Given the description of an element on the screen output the (x, y) to click on. 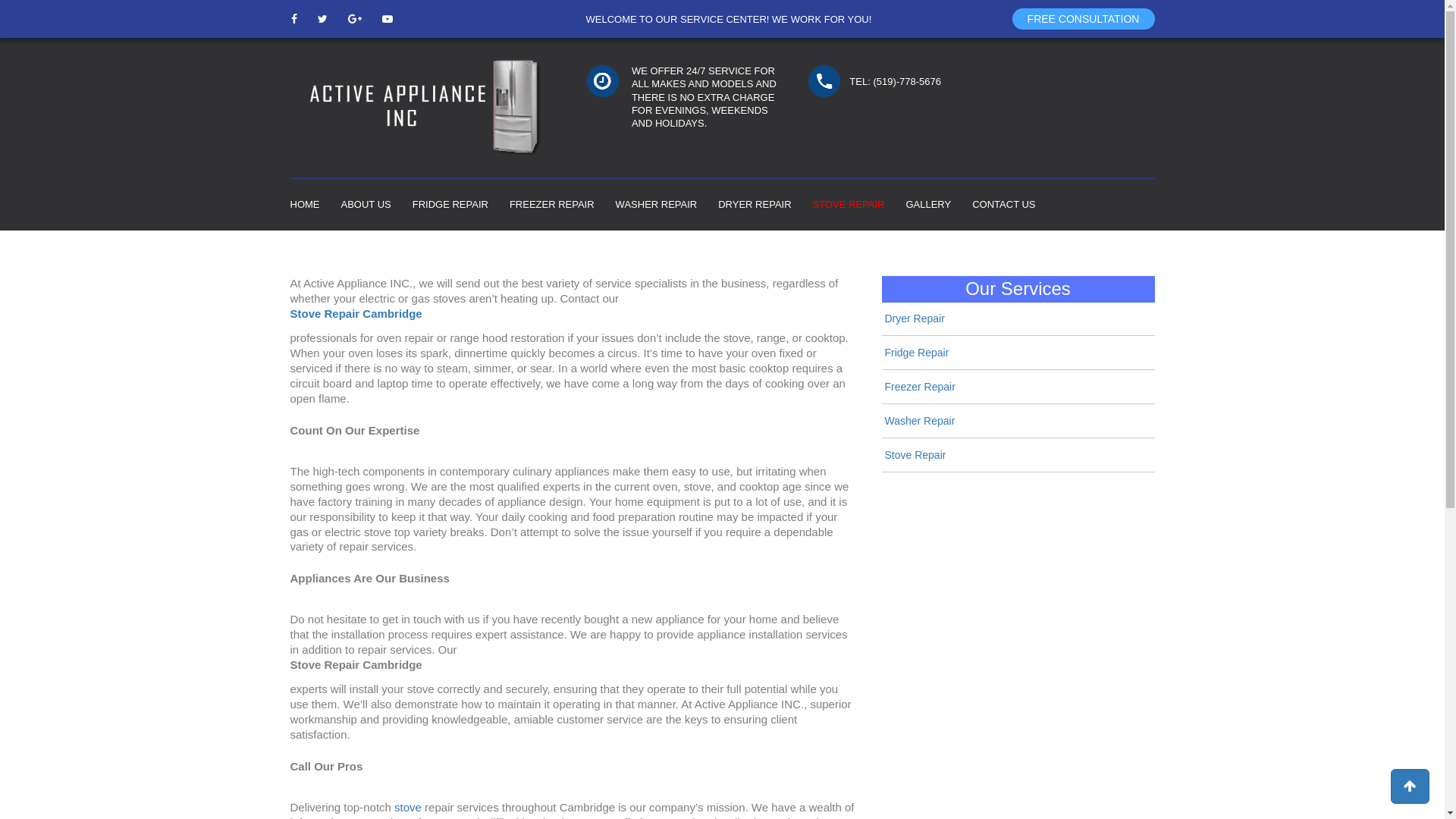
DRYER REPAIR Element type: text (754, 204)
GALLERY Element type: text (927, 204)
Stove Repair Element type: text (914, 454)
stove Element type: text (407, 806)
STOVE REPAIR Element type: text (848, 204)
WASHER REPAIR Element type: text (656, 204)
Washer Repair Element type: text (919, 420)
ABOUT US Element type: text (366, 204)
Dryer Repair Element type: text (914, 318)
CONTACT US Element type: text (1003, 204)
Stove Repair Cambridge Element type: text (355, 313)
FRIDGE REPAIR Element type: text (450, 204)
HOME Element type: text (304, 204)
Fridge Repair Element type: text (916, 352)
FREEZER REPAIR Element type: text (551, 204)
Freezer Repair Element type: text (919, 386)
Click to return on the top page Element type: hover (1409, 785)
FREE CONSULTATION Element type: text (1082, 18)
